Given the description of an element on the screen output the (x, y) to click on. 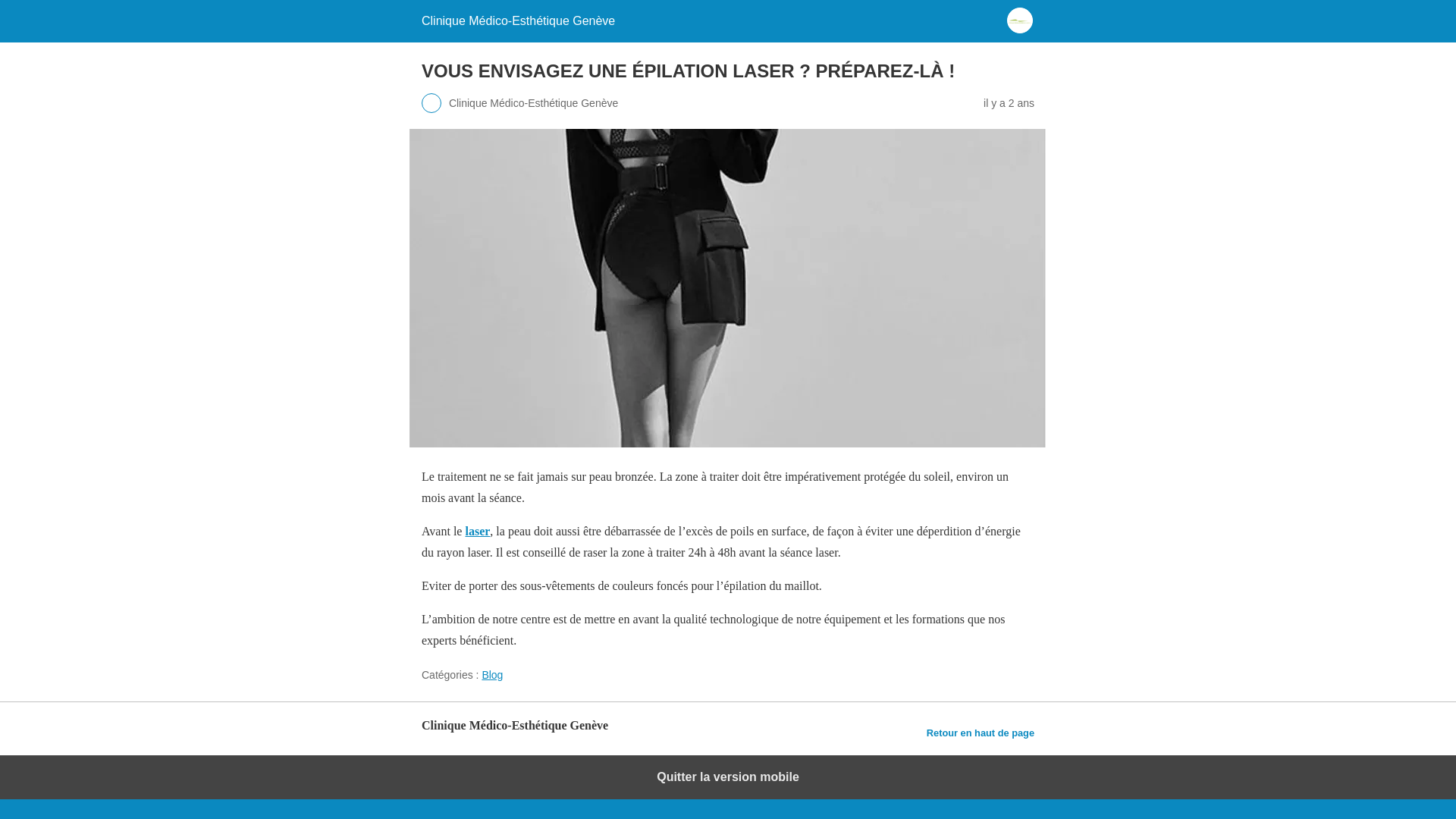
laser Element type: text (476, 530)
Retour en haut de page Element type: text (980, 733)
Blog Element type: text (491, 674)
